Given the description of an element on the screen output the (x, y) to click on. 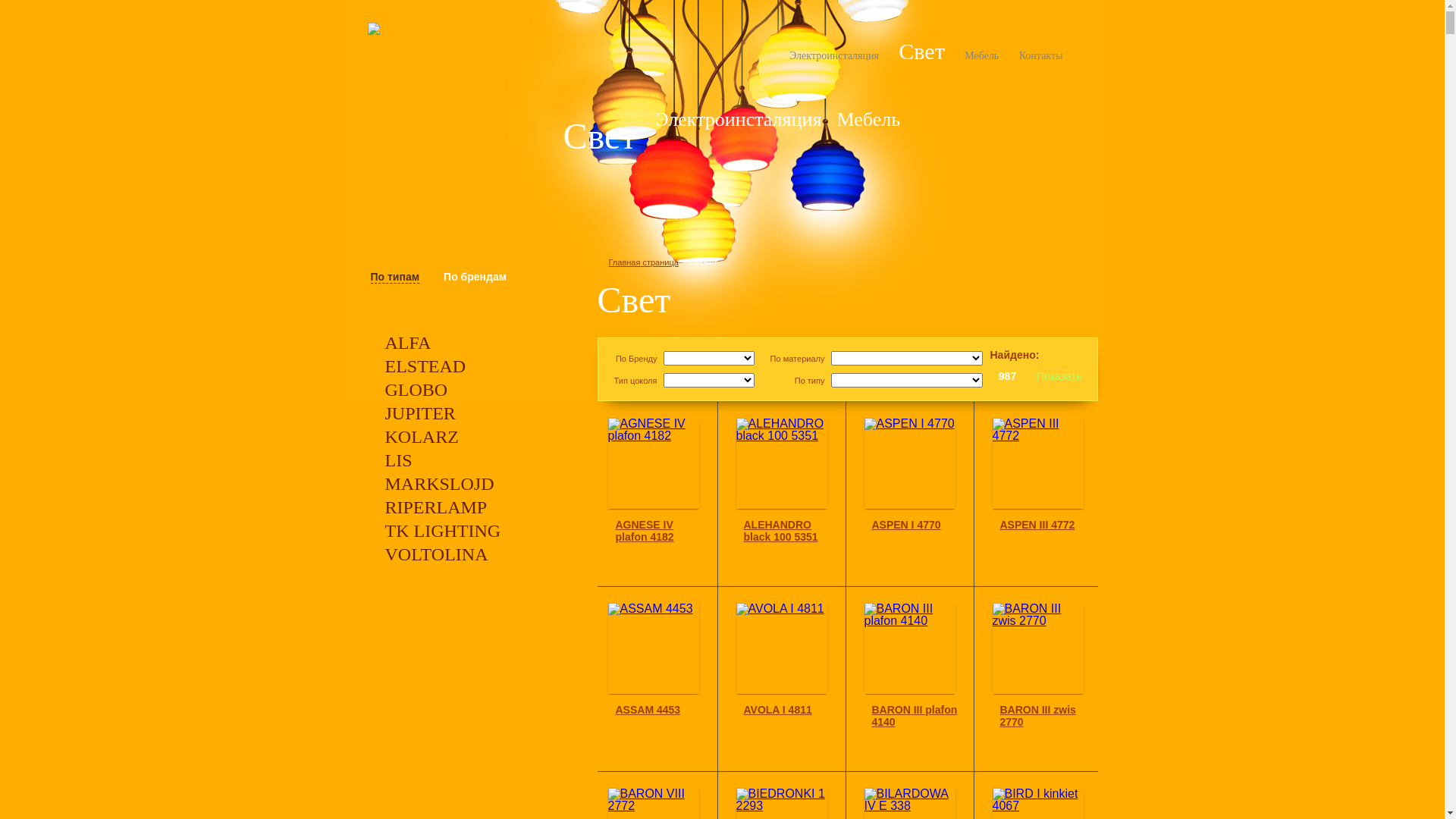
ALEHANDRO black 100 5351 Element type: text (780, 530)
BARON III zwis 2770 Element type: text (1037, 715)
TK LIGHTING Element type: text (443, 530)
KOLARZ Element type: text (421, 436)
ASSAM 4453 Element type: text (647, 709)
RIPERLAMP Element type: text (436, 507)
BARON III plafon 4140 Element type: text (914, 715)
ASPEN I 4770 Element type: text (906, 524)
ASPEN III 4772 Element type: text (1036, 524)
AVOLA I 4811 Element type: text (777, 709)
ELSTEAD Element type: text (425, 366)
LIS Element type: text (398, 460)
ALFA Element type: text (408, 342)
VOLTOLINA Element type: text (436, 554)
MARKSLOJD Element type: text (439, 483)
GLOBO Element type: text (416, 389)
AGNESE IV plafon 4182 Element type: text (644, 530)
JUPITER Element type: text (420, 413)
